Given the description of an element on the screen output the (x, y) to click on. 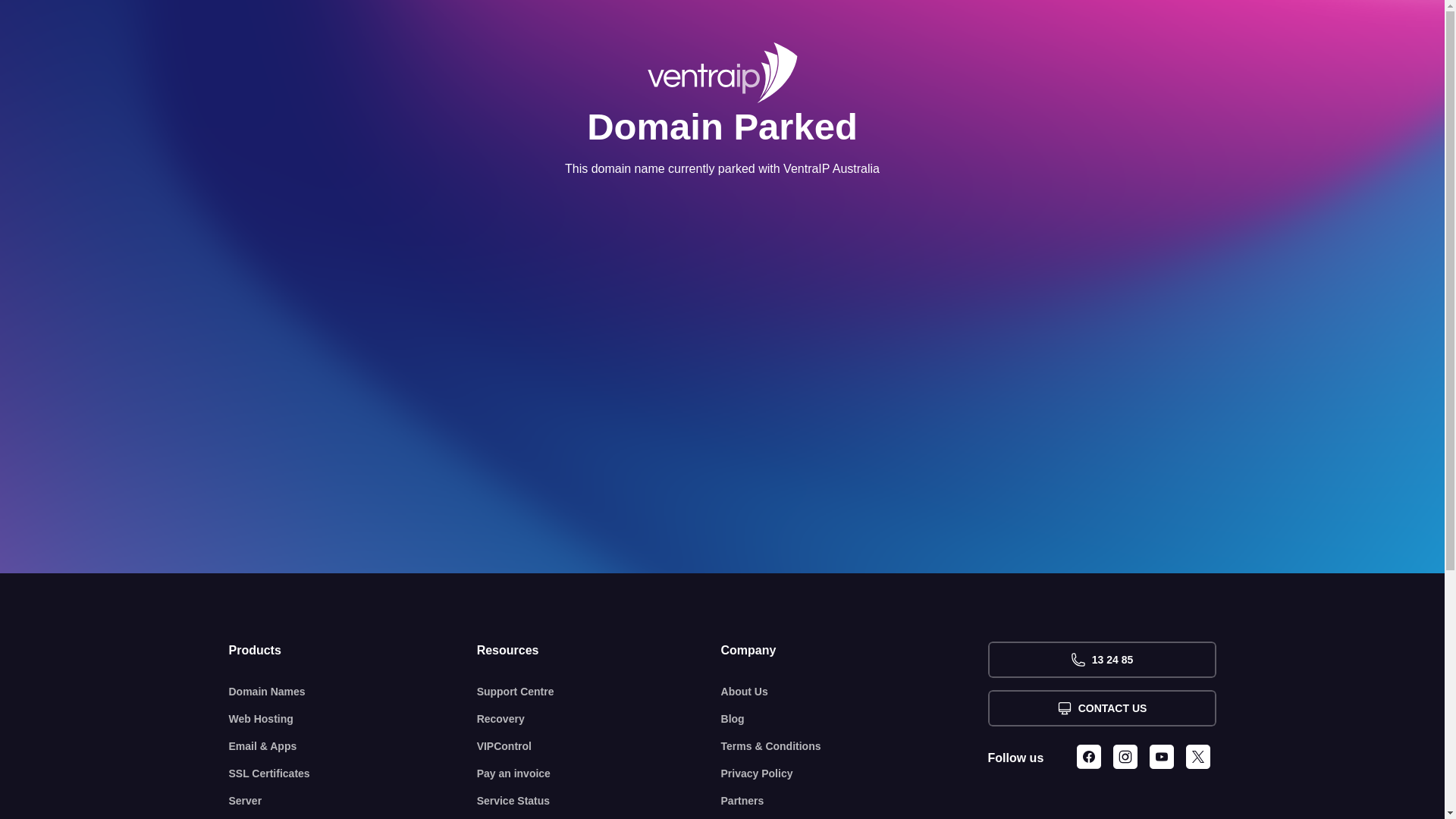
Server Element type: text (352, 800)
Pay an invoice Element type: text (598, 773)
Terms & Conditions Element type: text (854, 745)
VIPControl Element type: text (598, 745)
Service Status Element type: text (598, 800)
Blog Element type: text (854, 718)
Web Hosting Element type: text (352, 718)
Recovery Element type: text (598, 718)
13 24 85 Element type: text (1101, 659)
CONTACT US Element type: text (1101, 708)
Partners Element type: text (854, 800)
Domain Names Element type: text (352, 691)
About Us Element type: text (854, 691)
Email & Apps Element type: text (352, 745)
Privacy Policy Element type: text (854, 773)
SSL Certificates Element type: text (352, 773)
Support Centre Element type: text (598, 691)
